Given the description of an element on the screen output the (x, y) to click on. 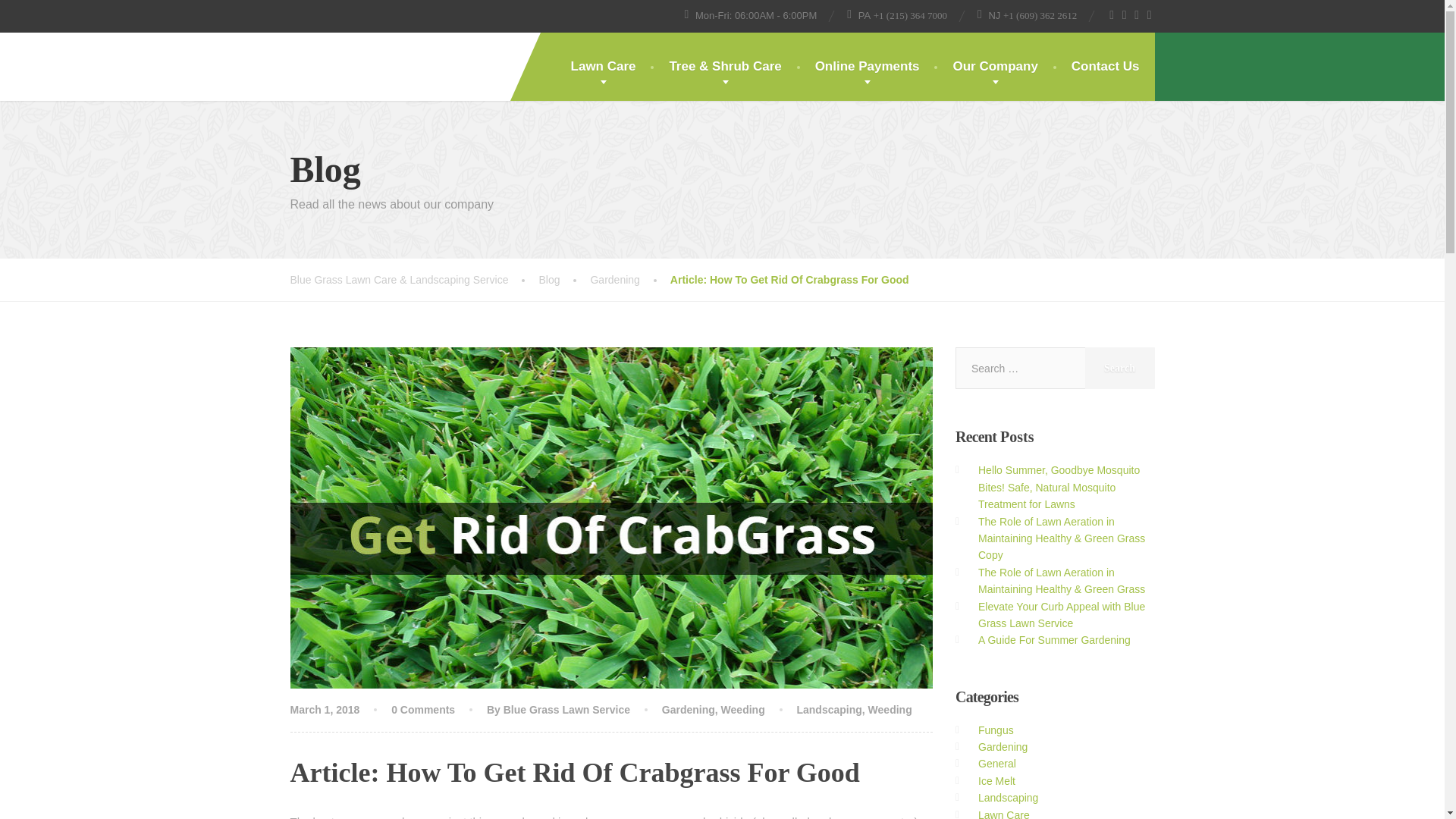
Go to the Gardening Category archives. (629, 279)
Online Payments (866, 66)
Search (1119, 368)
Gardening (688, 709)
Blog (563, 279)
Our Company (994, 66)
Weeding (742, 709)
Gardening (629, 279)
Go to Blog. (563, 279)
